Given the description of an element on the screen output the (x, y) to click on. 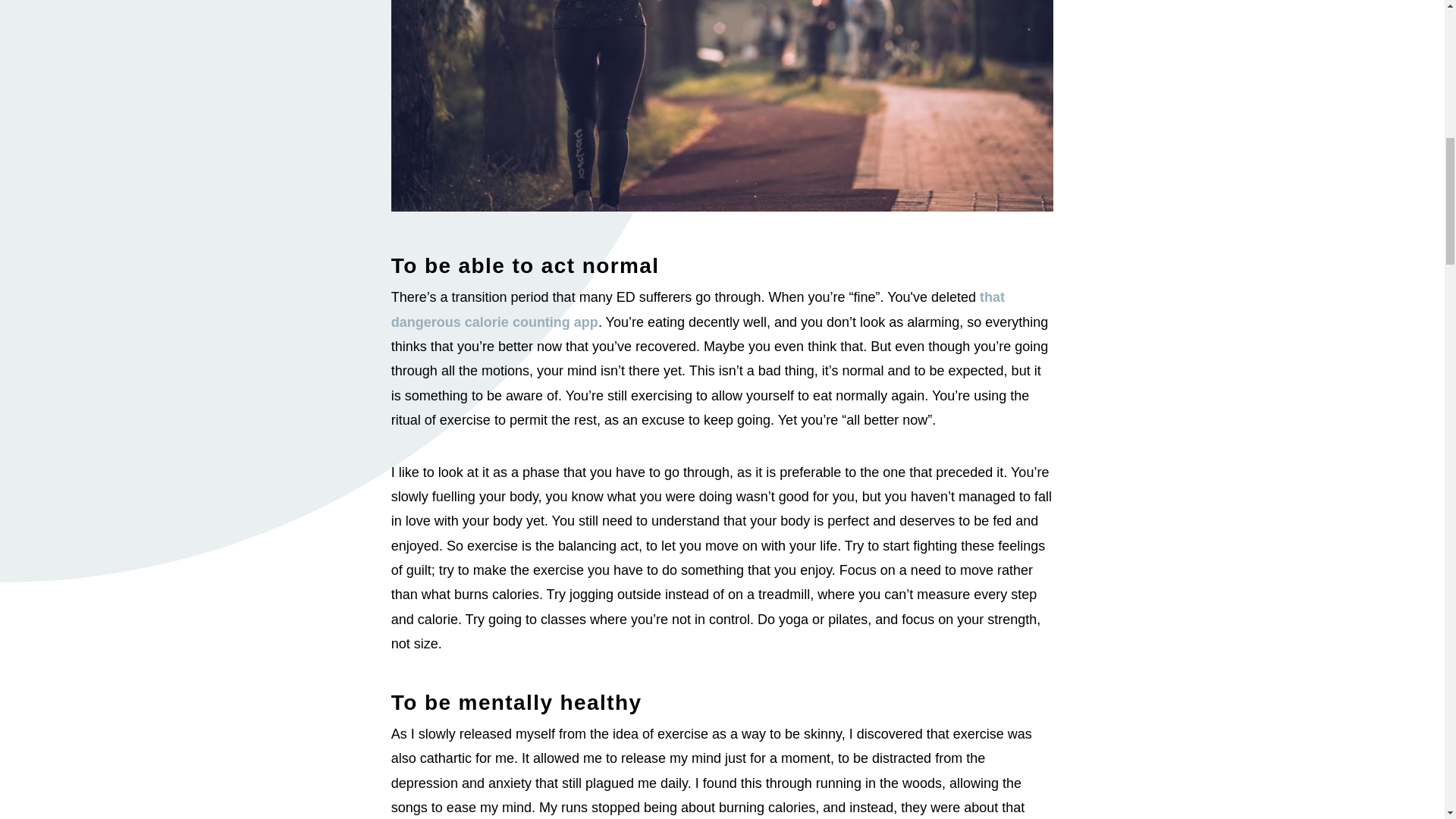
that dangerous calorie counting app (697, 309)
